Given the description of an element on the screen output the (x, y) to click on. 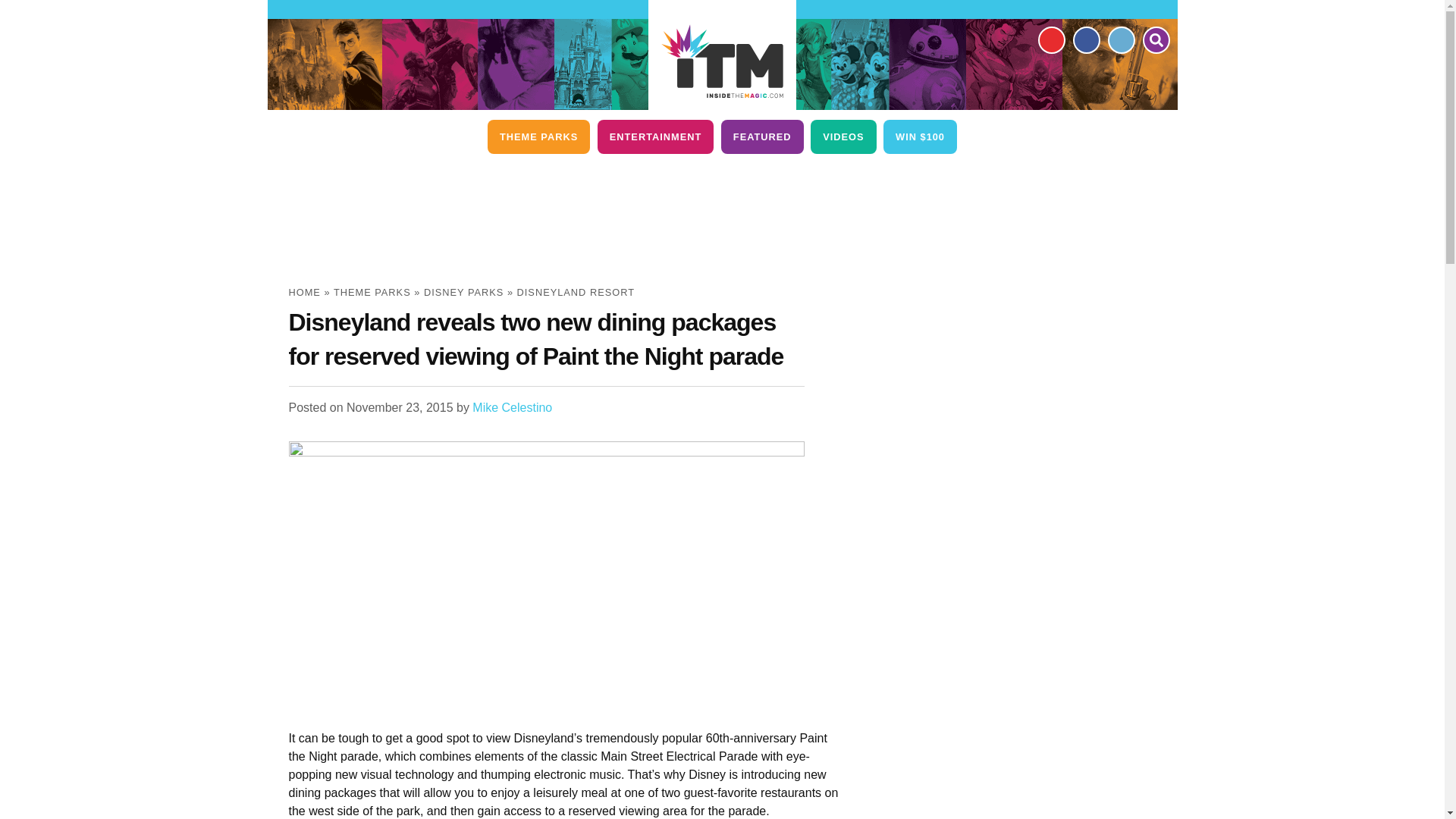
FEATURED (761, 136)
Twitter (1120, 40)
YouTube (1050, 40)
THEME PARKS (538, 136)
Facebook (1085, 40)
ENTERTAINMENT (655, 136)
Search (1155, 40)
